Given the description of an element on the screen output the (x, y) to click on. 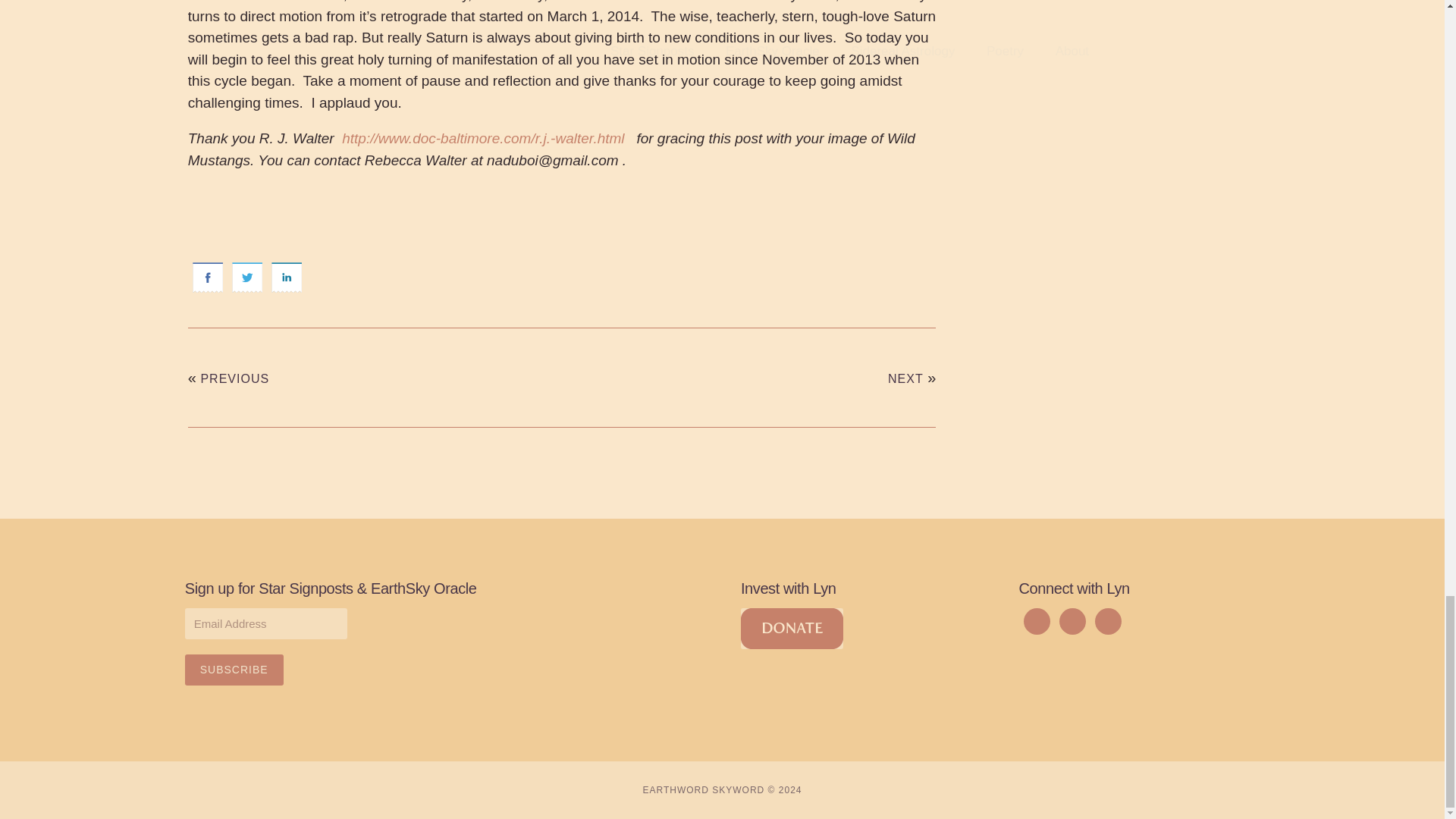
PayPal - The safer, easier way to pay online! (792, 628)
NEXT (905, 378)
PREVIOUS (234, 378)
Subscribe (233, 669)
twitter (246, 277)
linkedin (285, 277)
facebook (207, 277)
Subscribe (233, 669)
